Given the description of an element on the screen output the (x, y) to click on. 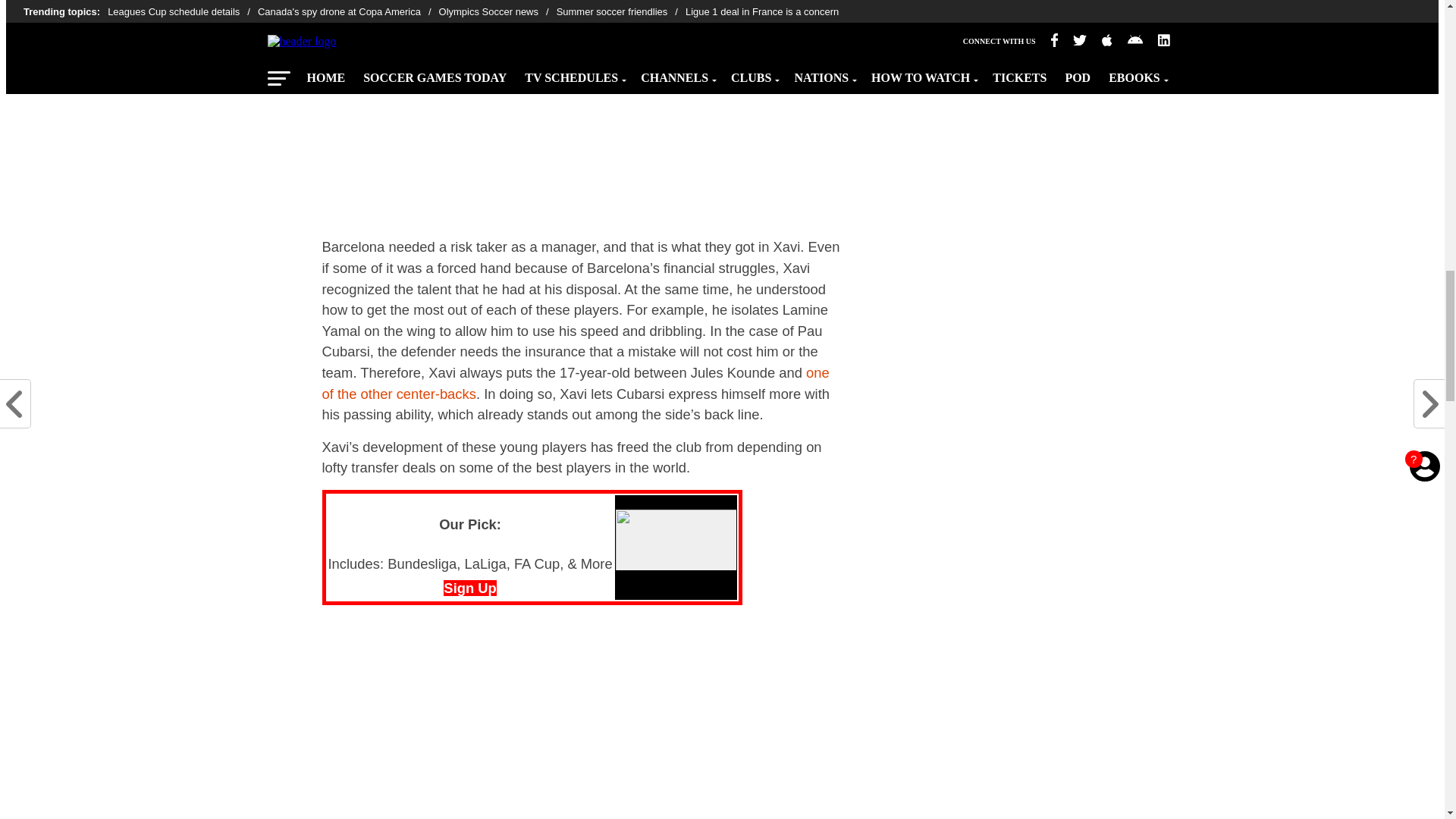
one of the other center-backs (574, 383)
Sign Up (470, 587)
